Given the description of an element on the screen output the (x, y) to click on. 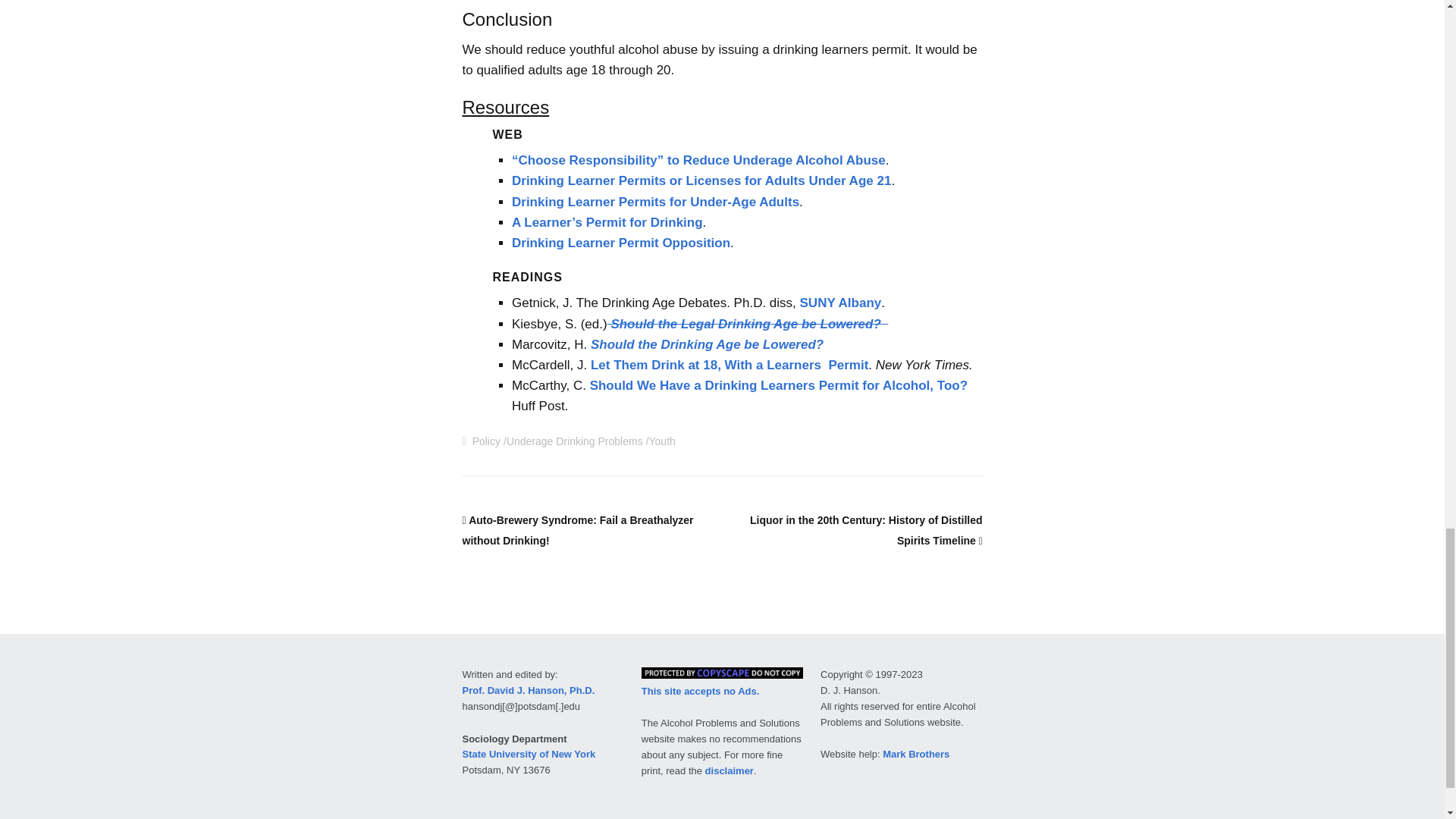
Let Them Drink at 18, With a Learners  Permit (729, 364)
Drinking Learner Permits or Licenses for Adults Under Age 21 (701, 180)
Prof. David J. Hanson, Ph.D. (529, 690)
Drinking Learner Permits for Under-Age Adults (655, 201)
Should We Have a Drinking Learners Permit for Alcohol, Too? (778, 385)
Should the Drinking Age be Lowered? (705, 344)
Drinking Learner Permit Opposition (621, 242)
This site accepts no Ads. (701, 690)
Auto-Brewery Syndrome: Fail a Breathalyzer without Drinking! (578, 530)
disclaimer (729, 770)
Policy (485, 440)
Should the Legal Drinking Age be Lowered?   (747, 323)
State University of New York (529, 754)
